Given the description of an element on the screen output the (x, y) to click on. 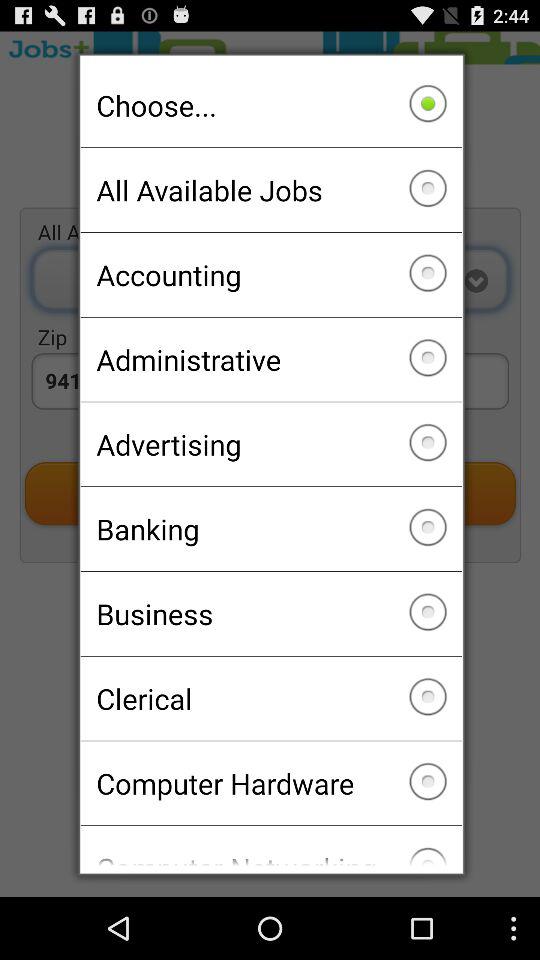
launch the item below business (270, 698)
